Given the description of an element on the screen output the (x, y) to click on. 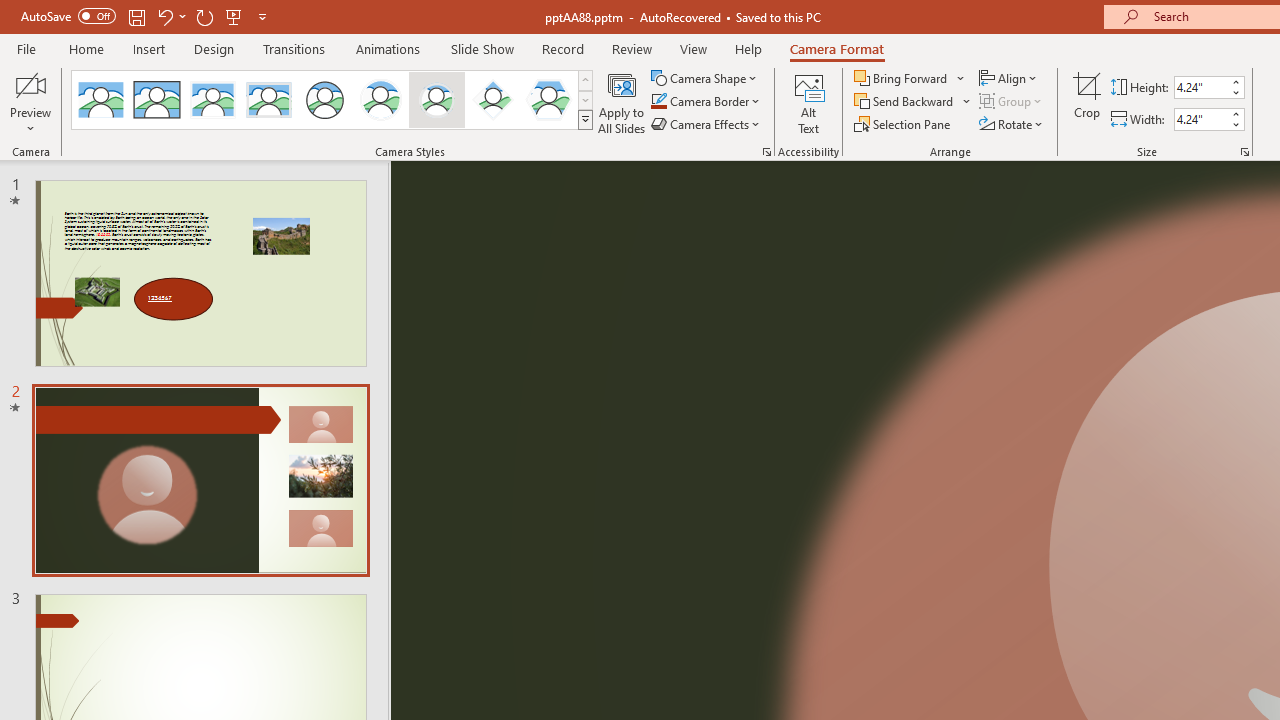
View (693, 48)
Cameo Height (1201, 87)
Record (562, 48)
Soft Edge Circle (436, 100)
System (10, 11)
Customize Quick Access Toolbar (262, 15)
Help (748, 48)
Redo (204, 15)
Home (86, 48)
Center Shadow Diamond (492, 100)
Soft Edge Rectangle (268, 100)
Cameo Width (1201, 119)
Center Shadow Rectangle (212, 100)
Row Down (585, 100)
AutoSave (68, 16)
